Given the description of an element on the screen output the (x, y) to click on. 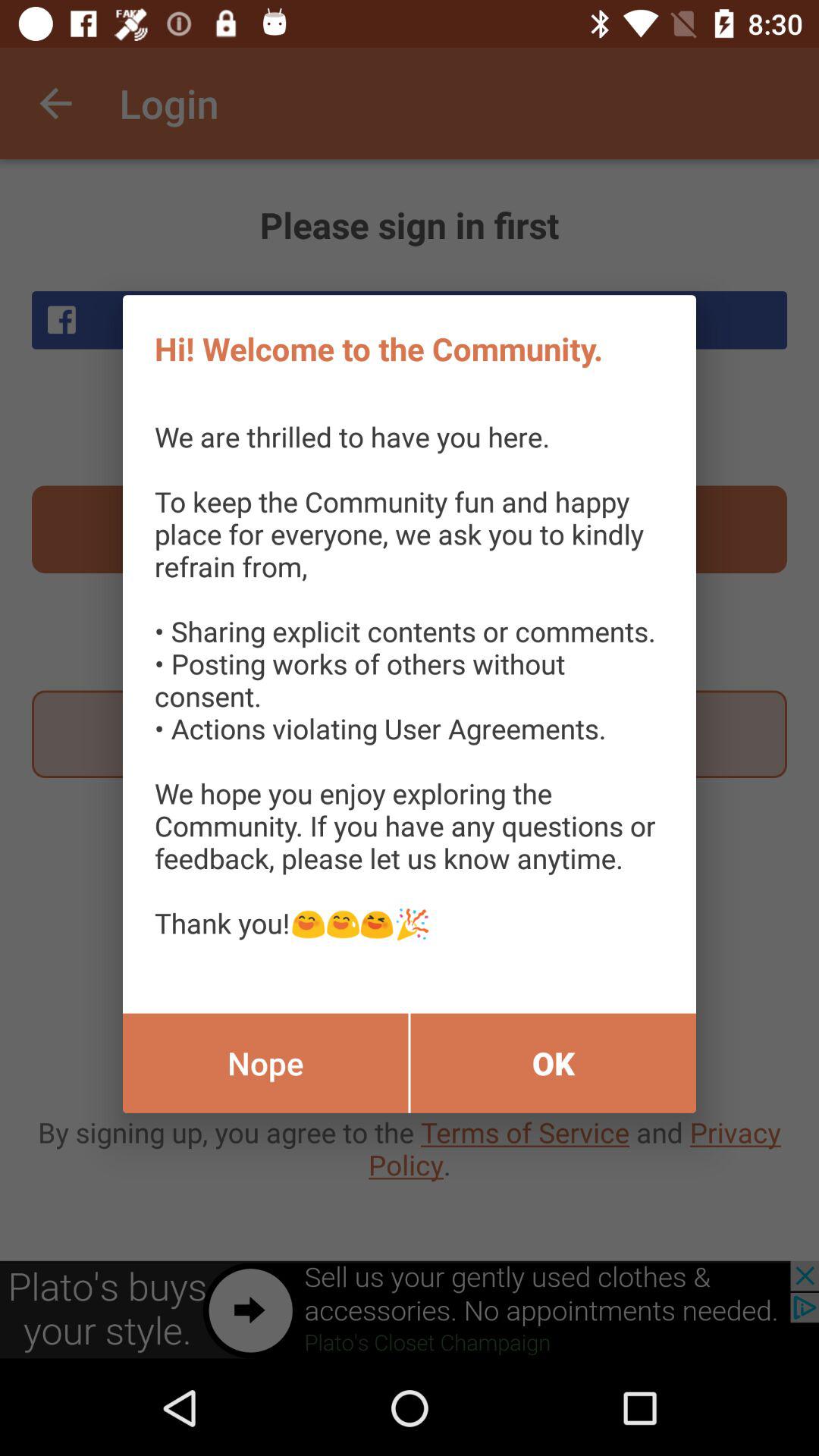
swipe to nope (265, 1063)
